Given the description of an element on the screen output the (x, y) to click on. 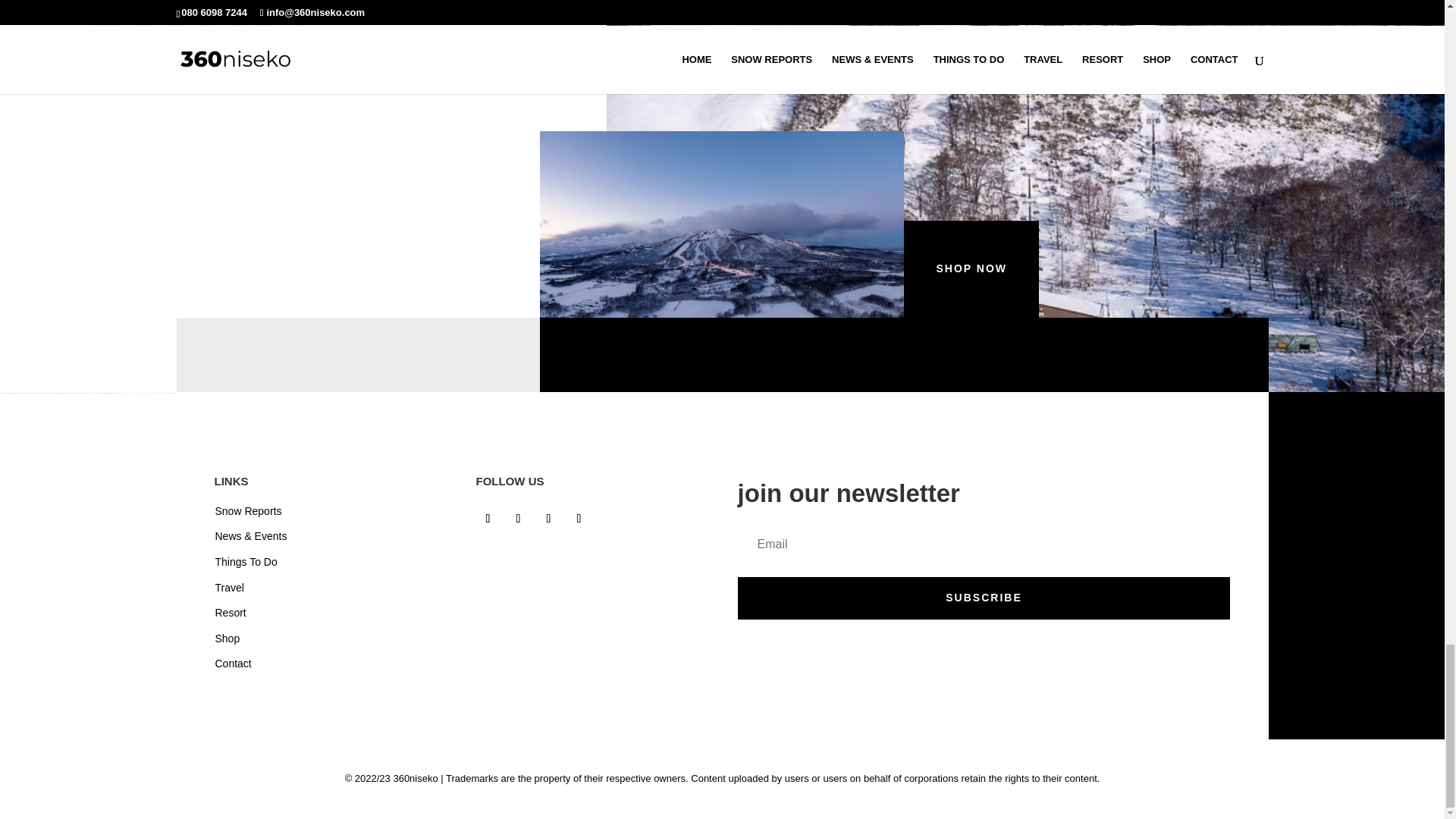
Follow on X (548, 518)
Follow on Vimeo (579, 518)
Follow on Instagram (518, 518)
niseko-2021-12-26 (722, 224)
Follow on Facebook (488, 518)
